Given the description of an element on the screen output the (x, y) to click on. 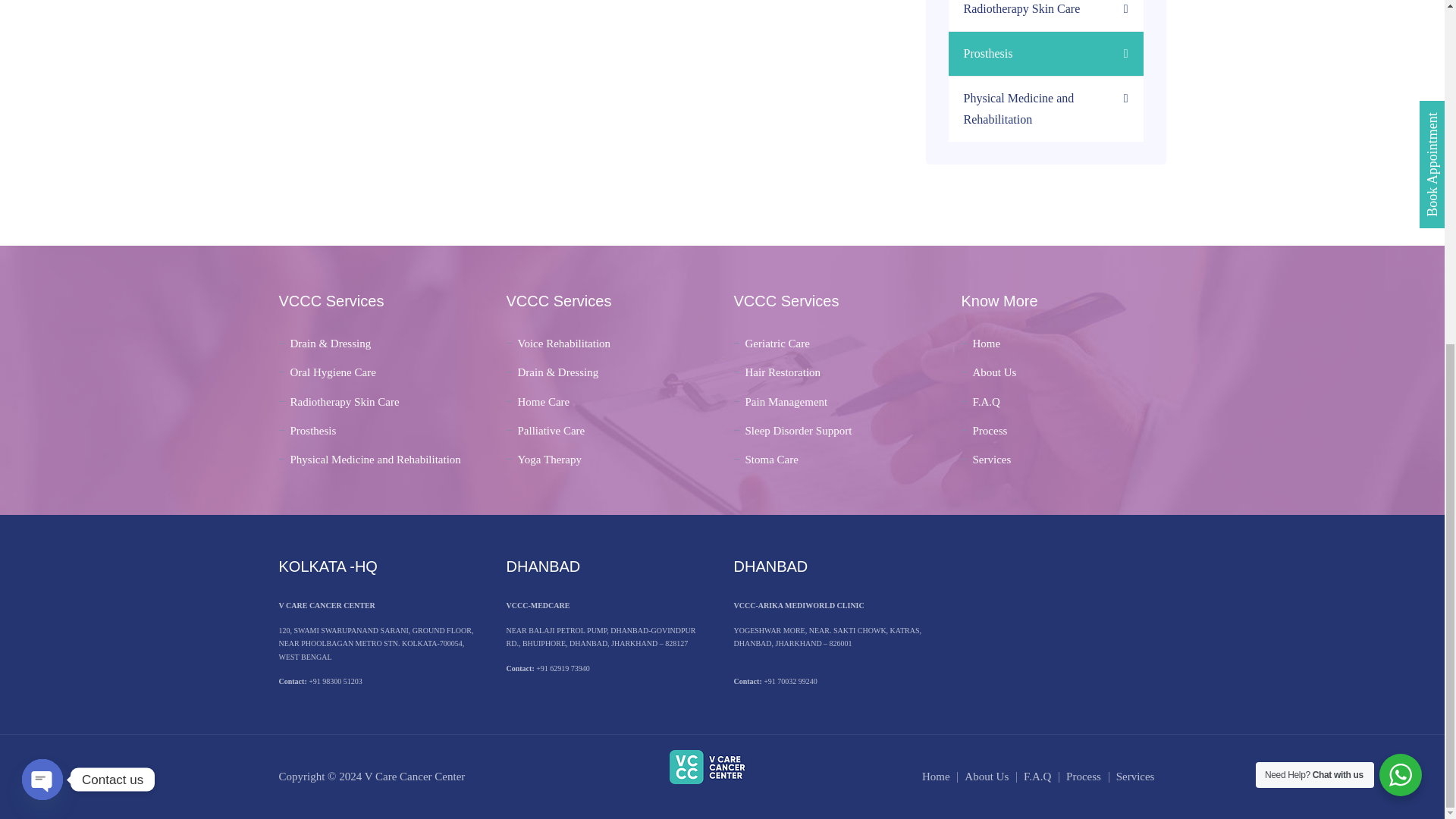
Prosthesis (1045, 53)
Oral Hygiene Care (327, 372)
Radiotherapy Skin Care (338, 401)
Physical Medicine and Rehabilitation (1045, 108)
Radiotherapy Skin Care (1045, 15)
